Given the description of an element on the screen output the (x, y) to click on. 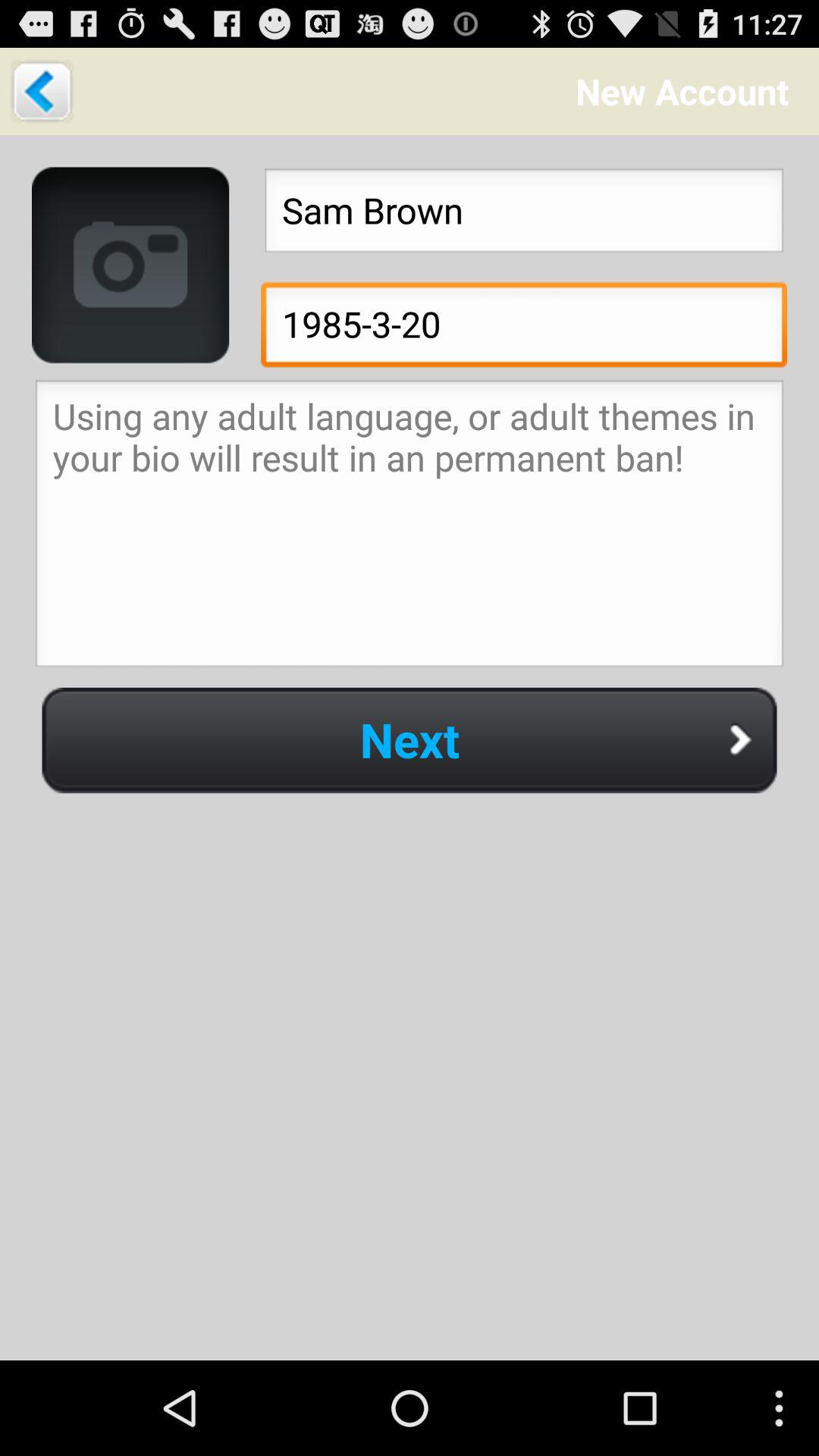
enter biography information (409, 527)
